Given the description of an element on the screen output the (x, y) to click on. 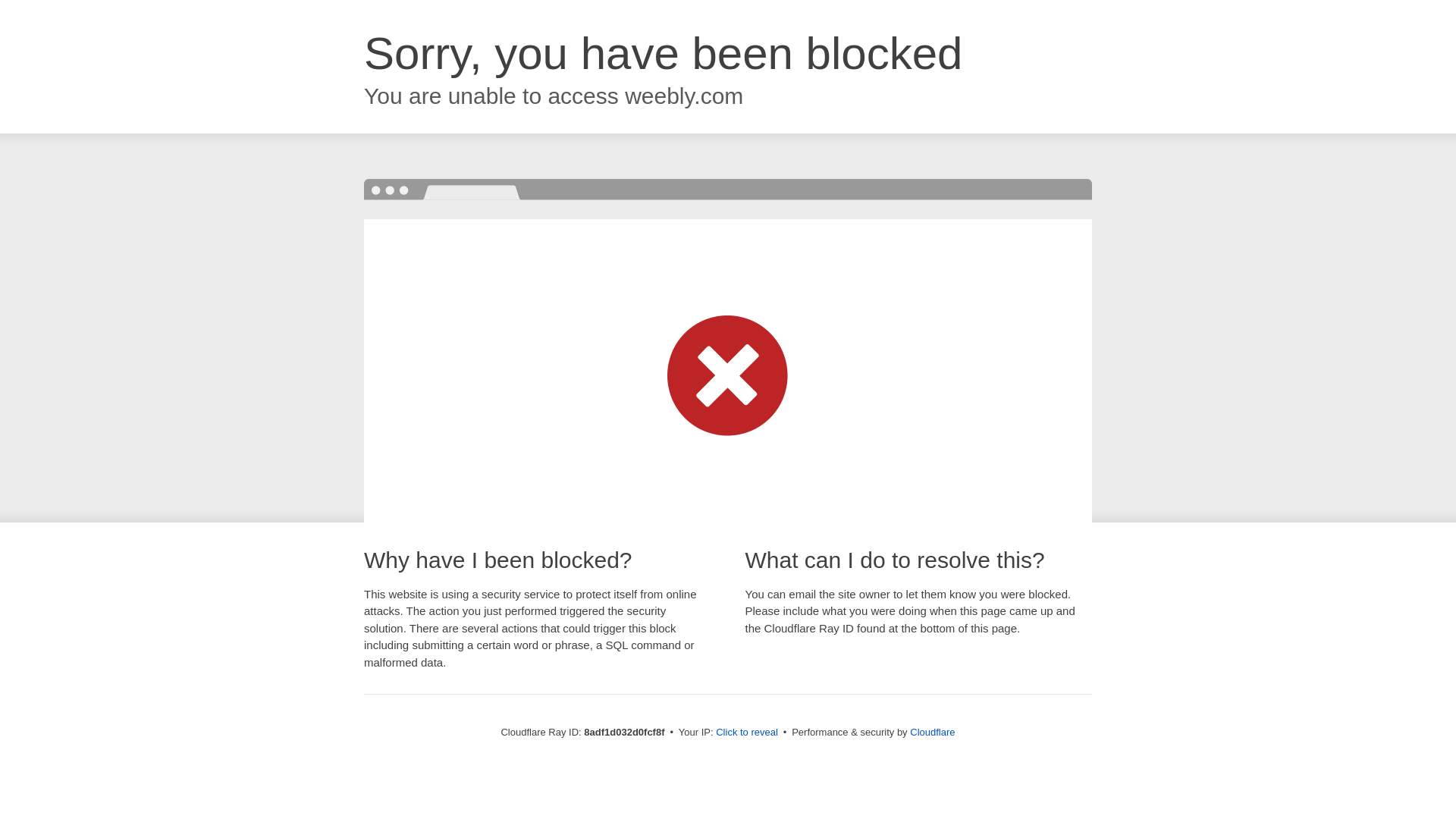
Click to reveal (746, 732)
Cloudflare (932, 731)
